Given the description of an element on the screen output the (x, y) to click on. 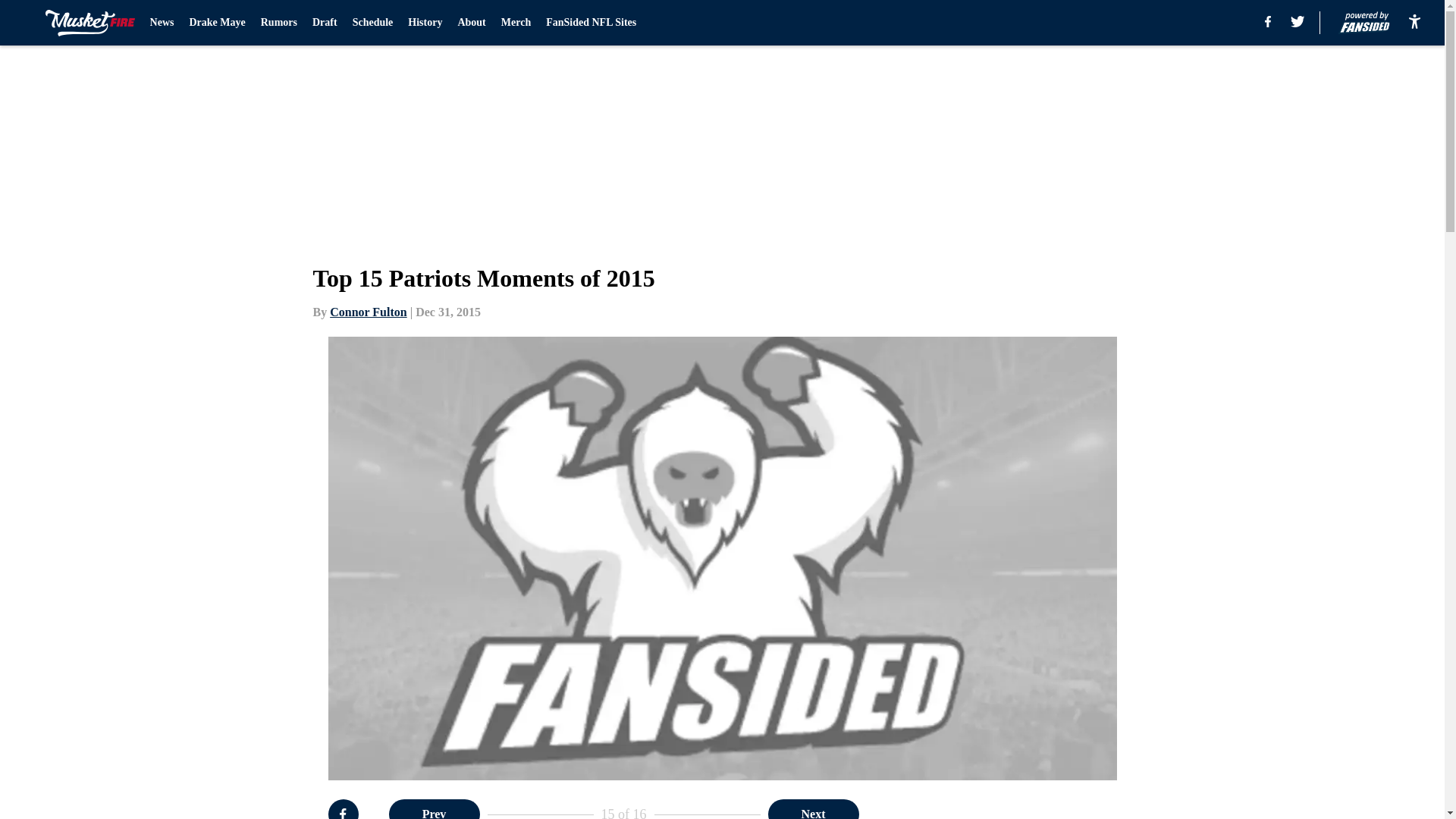
Connor Fulton (368, 311)
About (470, 22)
News (161, 22)
Prev (433, 809)
Schedule (372, 22)
Drake Maye (216, 22)
Rumors (278, 22)
Draft (325, 22)
Merch (515, 22)
History (424, 22)
FanSided NFL Sites (591, 22)
Next (813, 809)
